Given the description of an element on the screen output the (x, y) to click on. 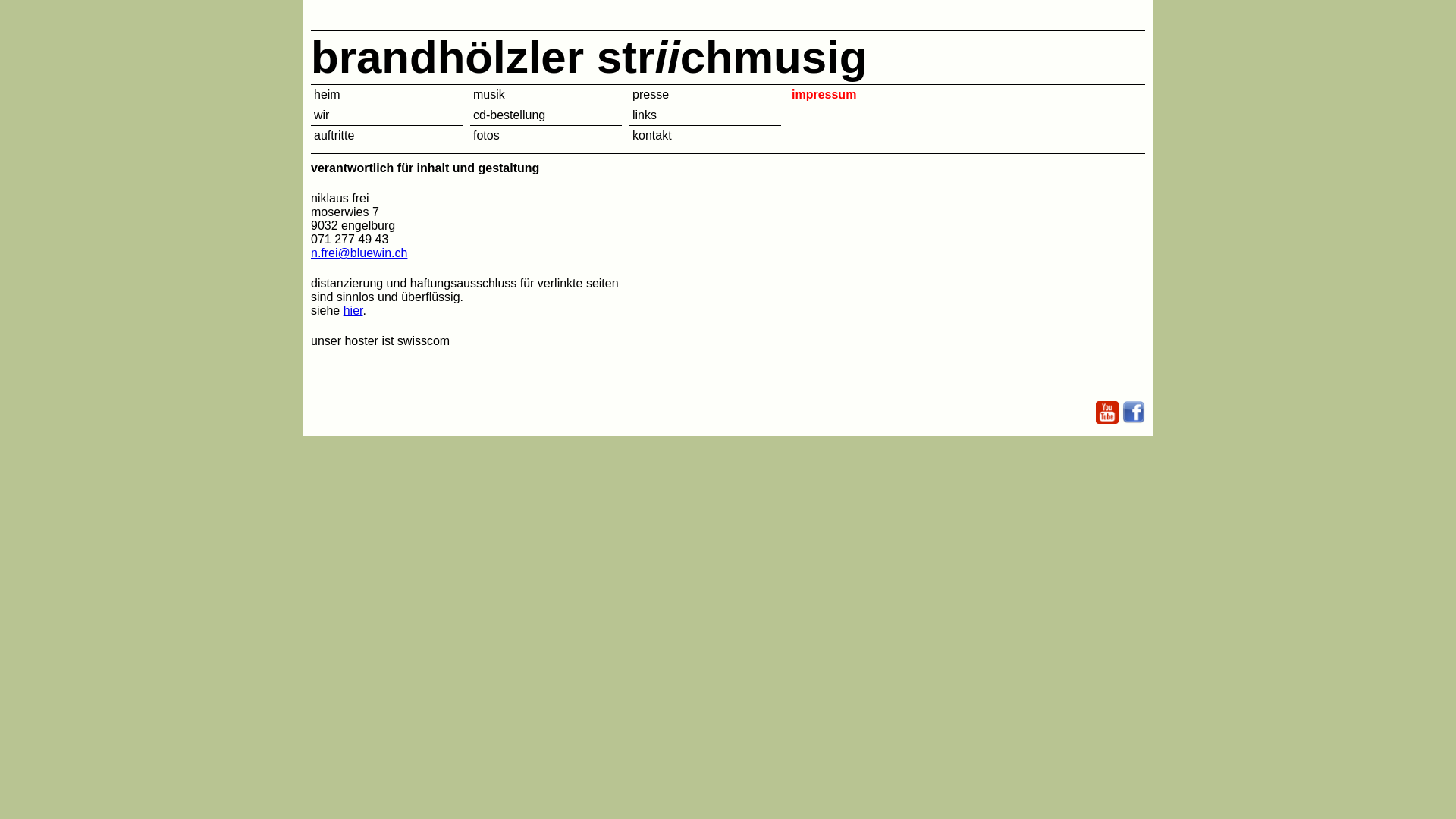
heim Element type: text (326, 93)
links Element type: text (644, 114)
musik Element type: text (489, 93)
n.frei@bluewin.ch Element type: text (358, 252)
presse Element type: text (650, 93)
cd-bestellung Element type: text (509, 114)
hier Element type: text (353, 310)
fotos Element type: text (486, 134)
impressum Element type: text (823, 93)
wir Element type: text (321, 114)
kontakt Element type: text (651, 134)
auftritte Element type: text (333, 134)
